Given the description of an element on the screen output the (x, y) to click on. 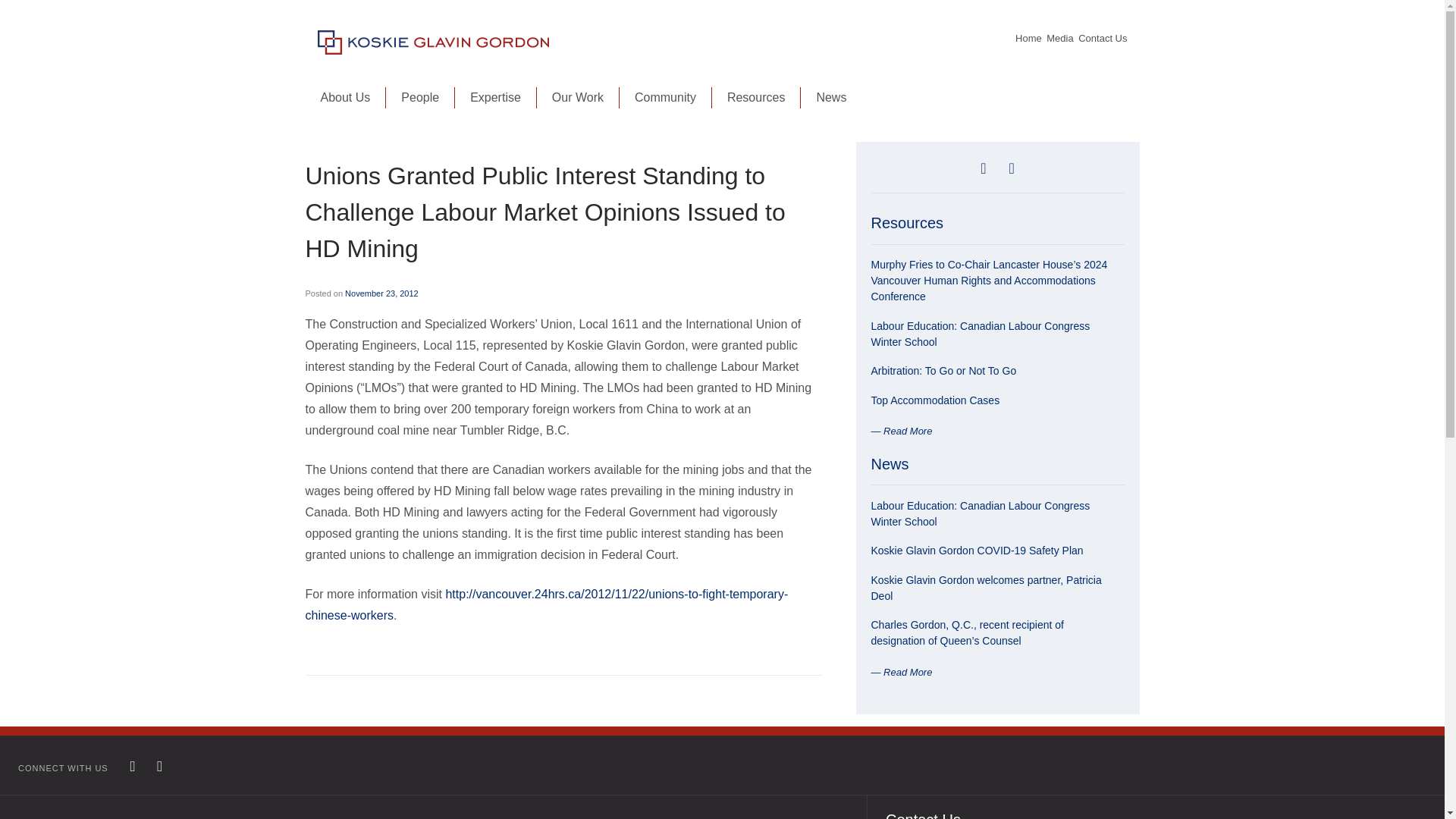
Contact Us (1102, 38)
About Us (344, 97)
Home (1028, 38)
Media (1059, 38)
Koskie Glavin Gordon (376, 82)
Our Work (578, 97)
Expertise (495, 97)
People (419, 97)
